Given the description of an element on the screen output the (x, y) to click on. 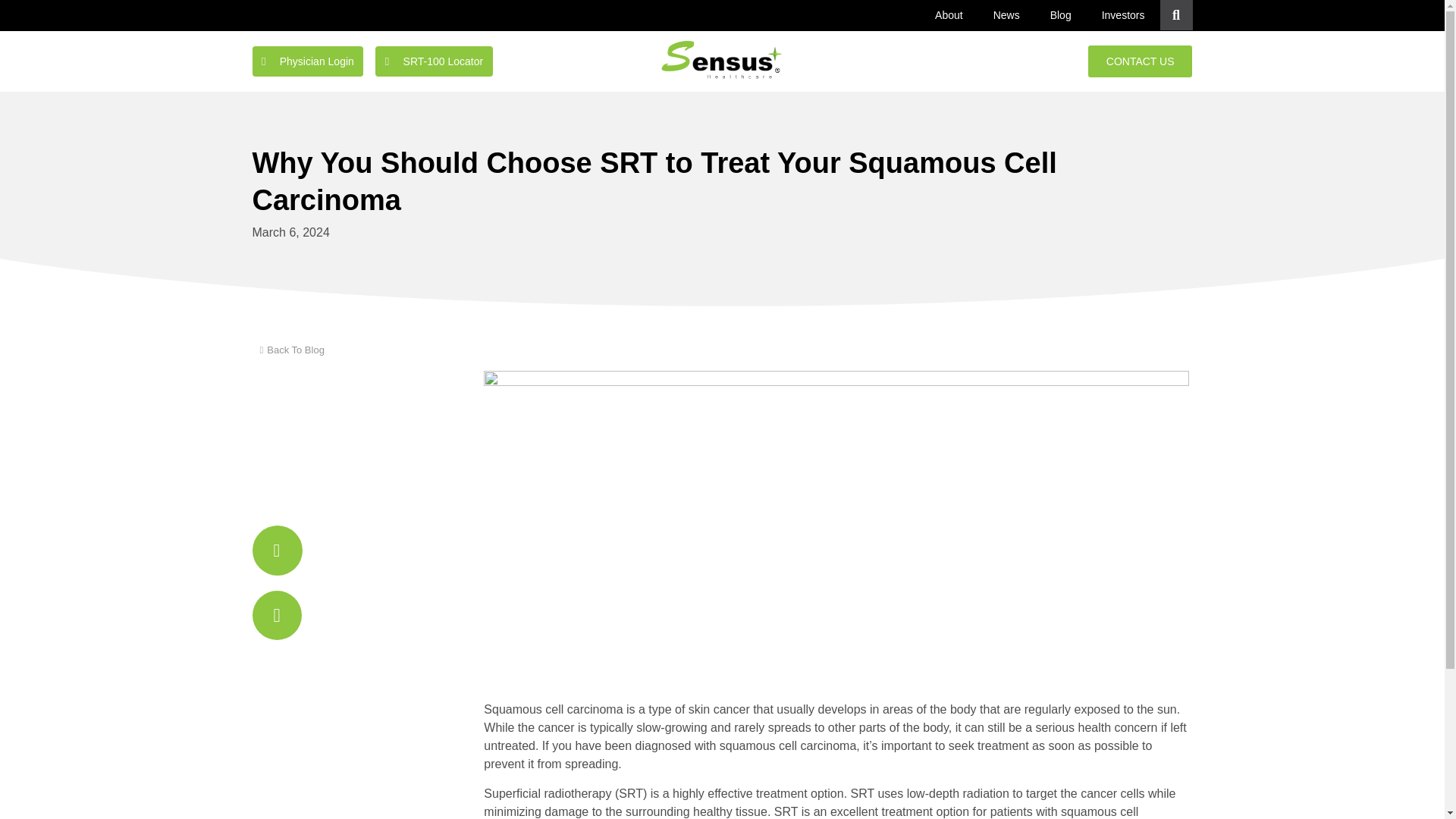
Investors (1123, 15)
Physician Login (306, 60)
Blog (1060, 15)
Back To Blog (287, 350)
CONTACT US (1139, 60)
SRT-100 Locator (433, 60)
About (949, 15)
News (1006, 15)
